Given the description of an element on the screen output the (x, y) to click on. 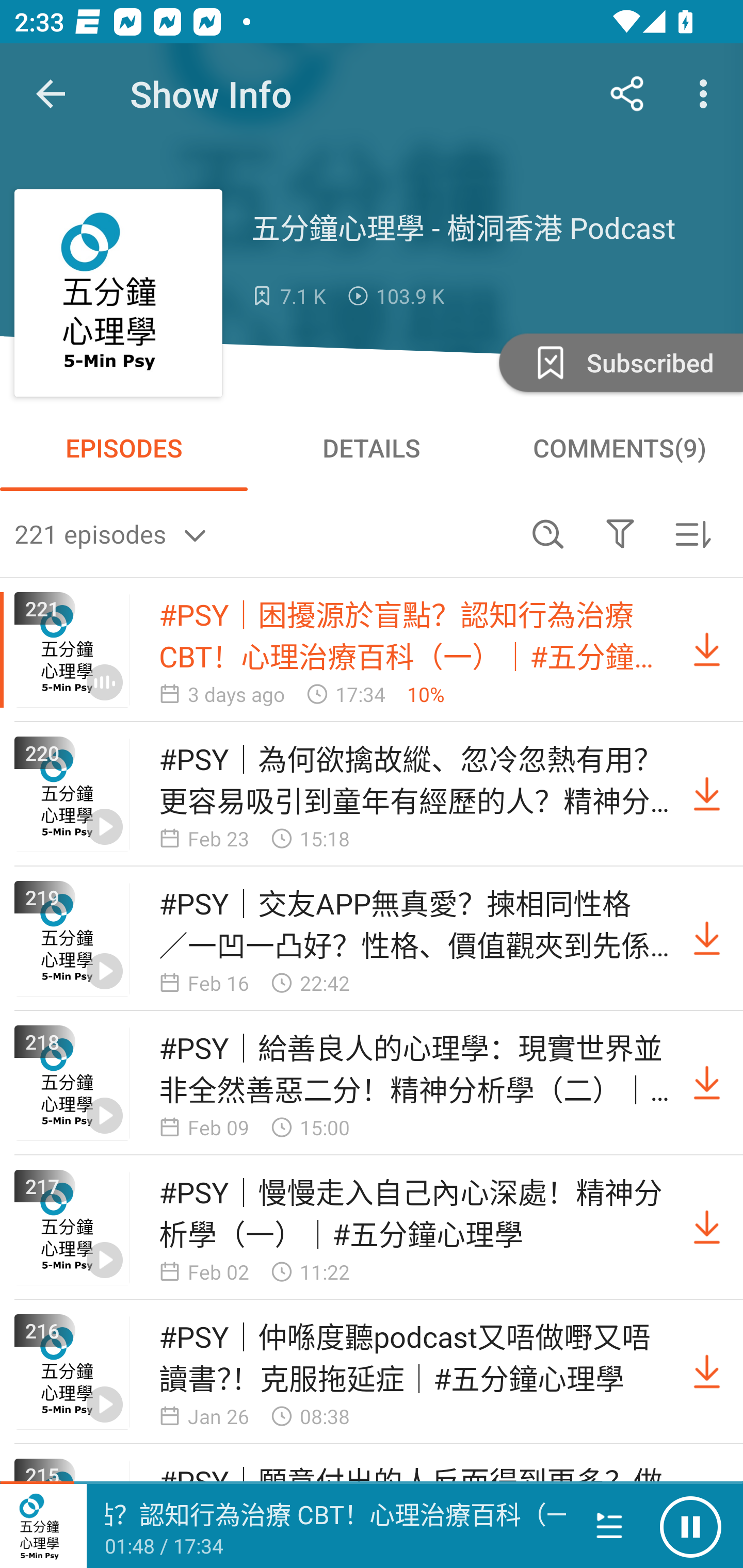
Navigate up (50, 93)
Share (626, 93)
More options (706, 93)
Unsubscribe Subscribed (619, 361)
EPISODES (123, 447)
DETAILS (371, 447)
COMMENTS(9) (619, 447)
221 episodes  (262, 533)
 Search (547, 533)
 (619, 533)
 Sorted by newest first (692, 533)
Download (706, 649)
Download (706, 793)
Download (706, 939)
Download (706, 1083)
Download (706, 1227)
Download (706, 1371)
Pause (690, 1526)
